Given the description of an element on the screen output the (x, y) to click on. 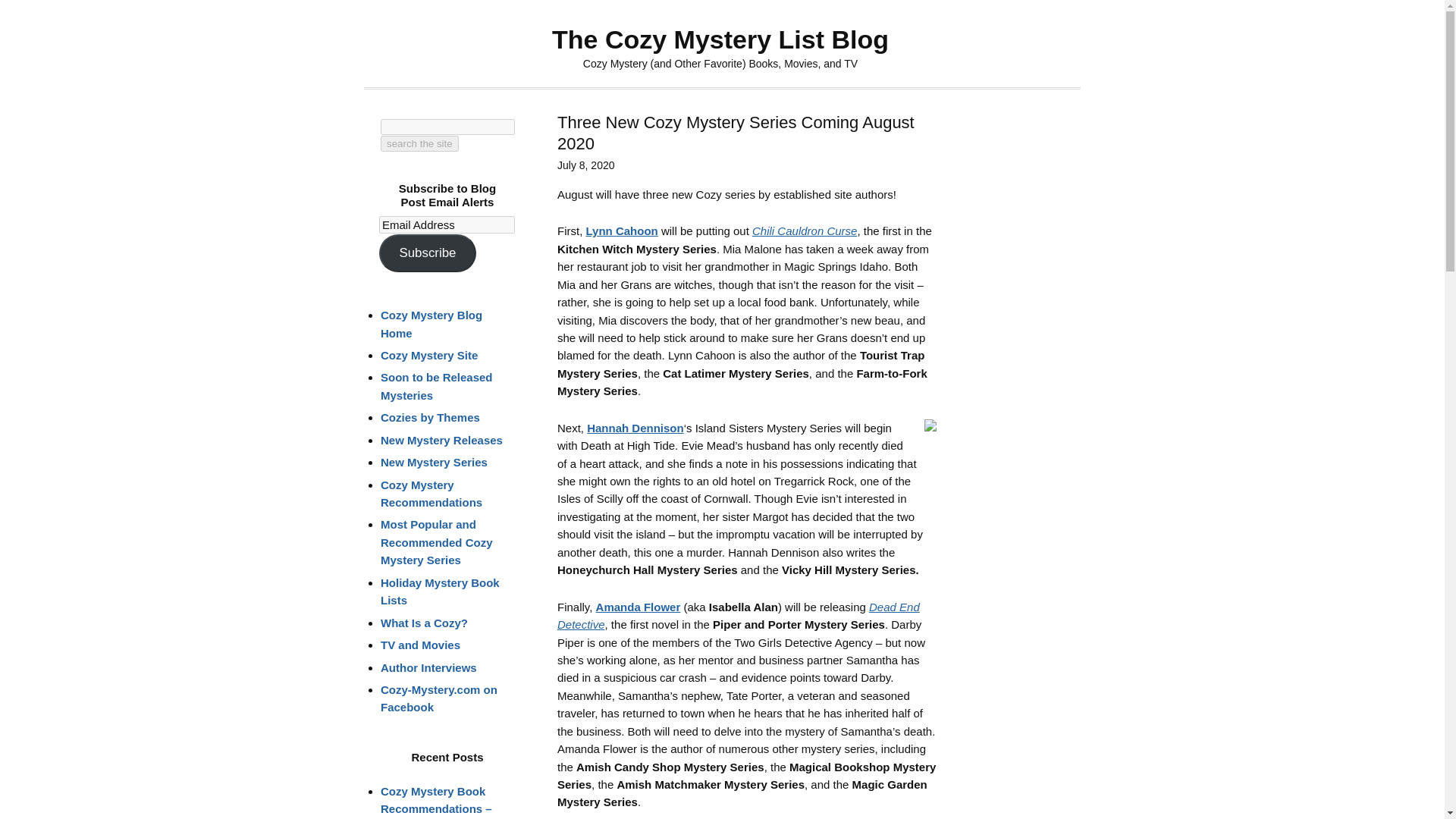
Cozy Mystery Blog Home (430, 323)
Holiday Mystery Book Lists (439, 591)
New Mystery Releases (441, 440)
Cozy-Mystery.com on Facebook (438, 698)
Subscribe (427, 253)
Dead End Detective (738, 615)
Most Popular and Recommended Cozy Mystery Series (436, 541)
search the site (419, 143)
Cozies by Themes (430, 417)
Cozy Mystery Site (428, 354)
